Given the description of an element on the screen output the (x, y) to click on. 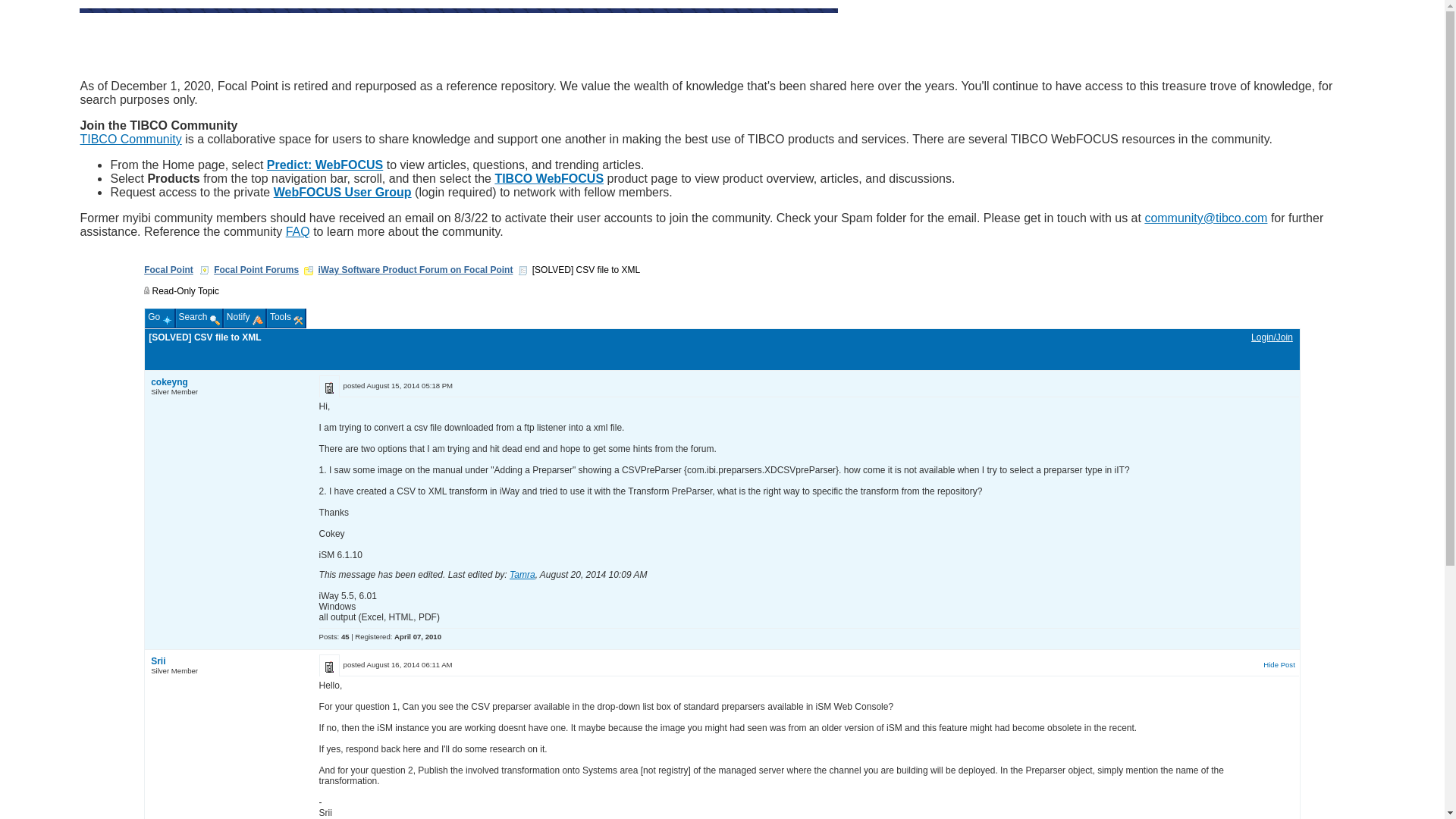
FAQ (297, 231)
iWay Software Product Forum on Focal Point (415, 269)
TIBCO Community (130, 138)
GO (307, 172)
Predict: WebFOCUS (325, 164)
Focal Point Forums (256, 269)
TIBCO WebFOCUS (549, 178)
Hop To Forum Categories (308, 270)
Focal Point (168, 269)
WebFOCUS User Group (342, 192)
